Given the description of an element on the screen output the (x, y) to click on. 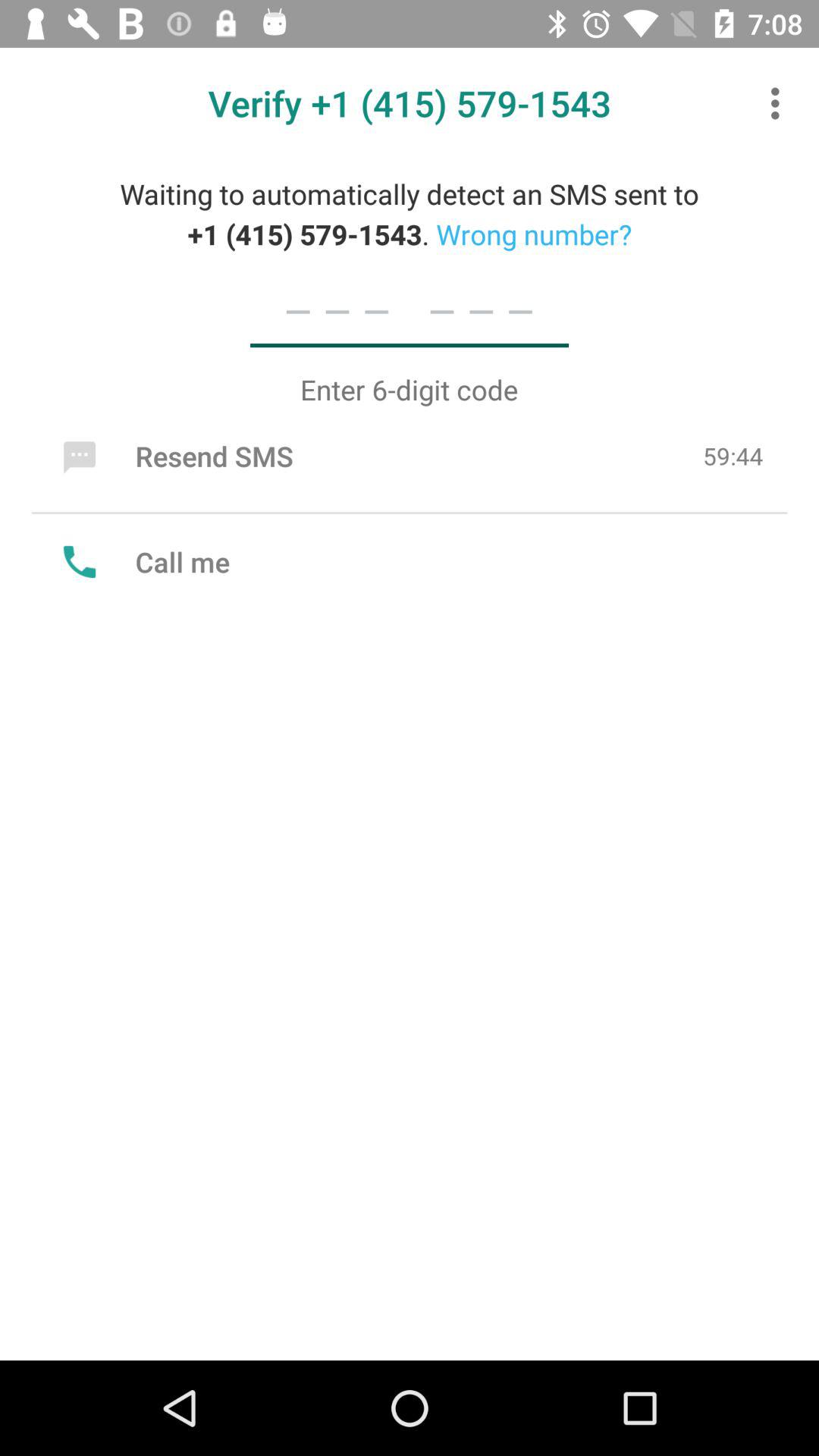
turn off icon to the right of the verify 1 415 item (779, 103)
